Given the description of an element on the screen output the (x, y) to click on. 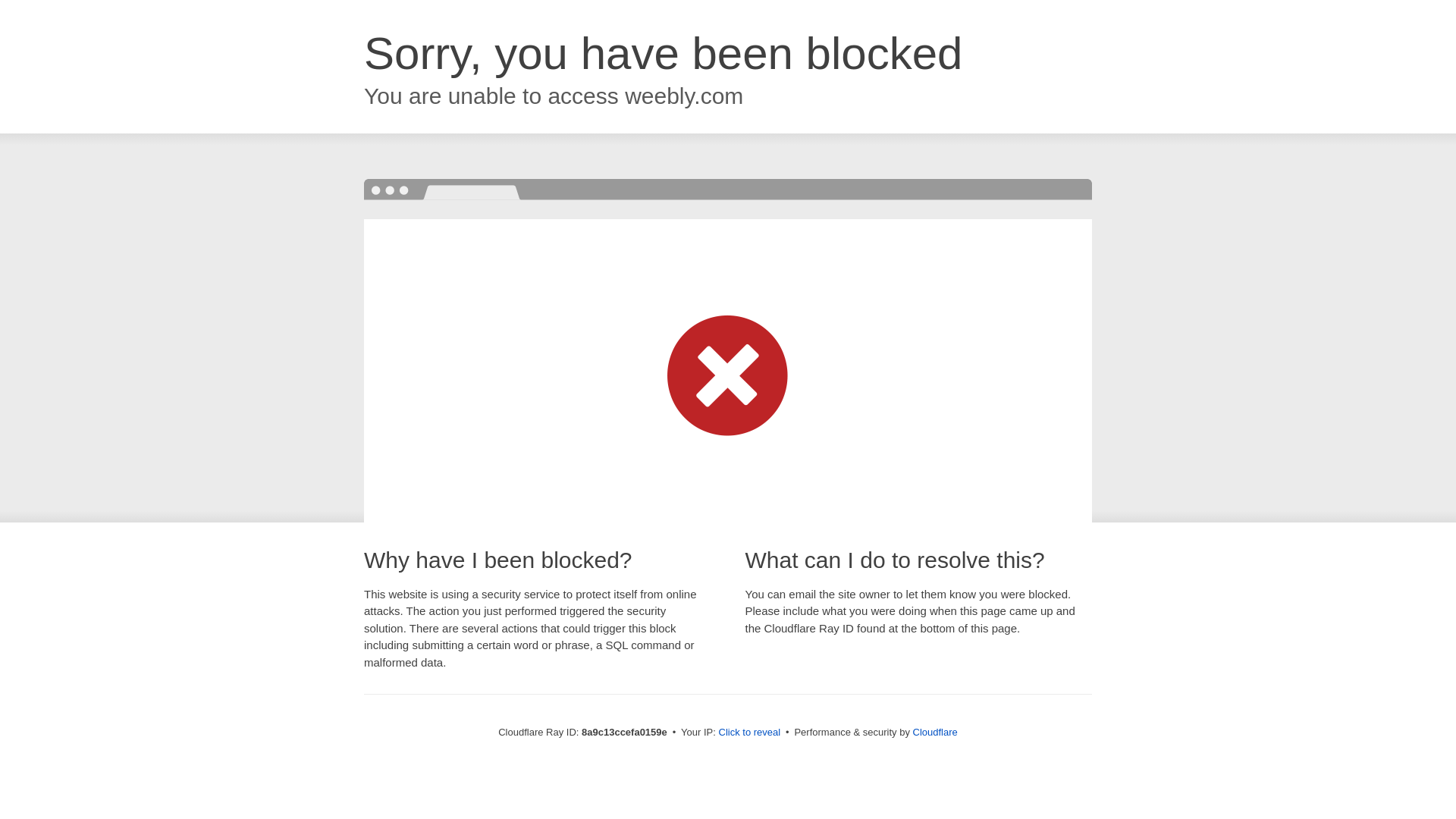
Cloudflare (935, 731)
Click to reveal (749, 732)
